Given the description of an element on the screen output the (x, y) to click on. 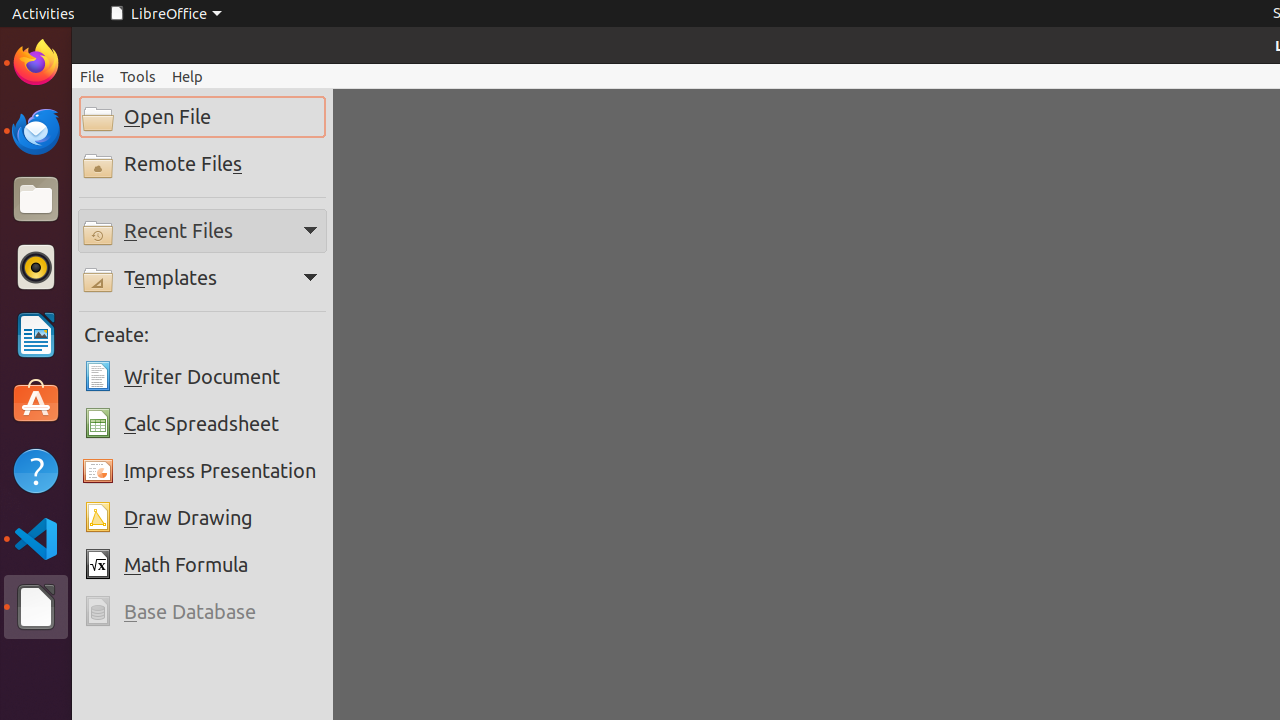
Remote Files Element type: push-button (202, 164)
File Element type: menu (92, 76)
